Given the description of an element on the screen output the (x, y) to click on. 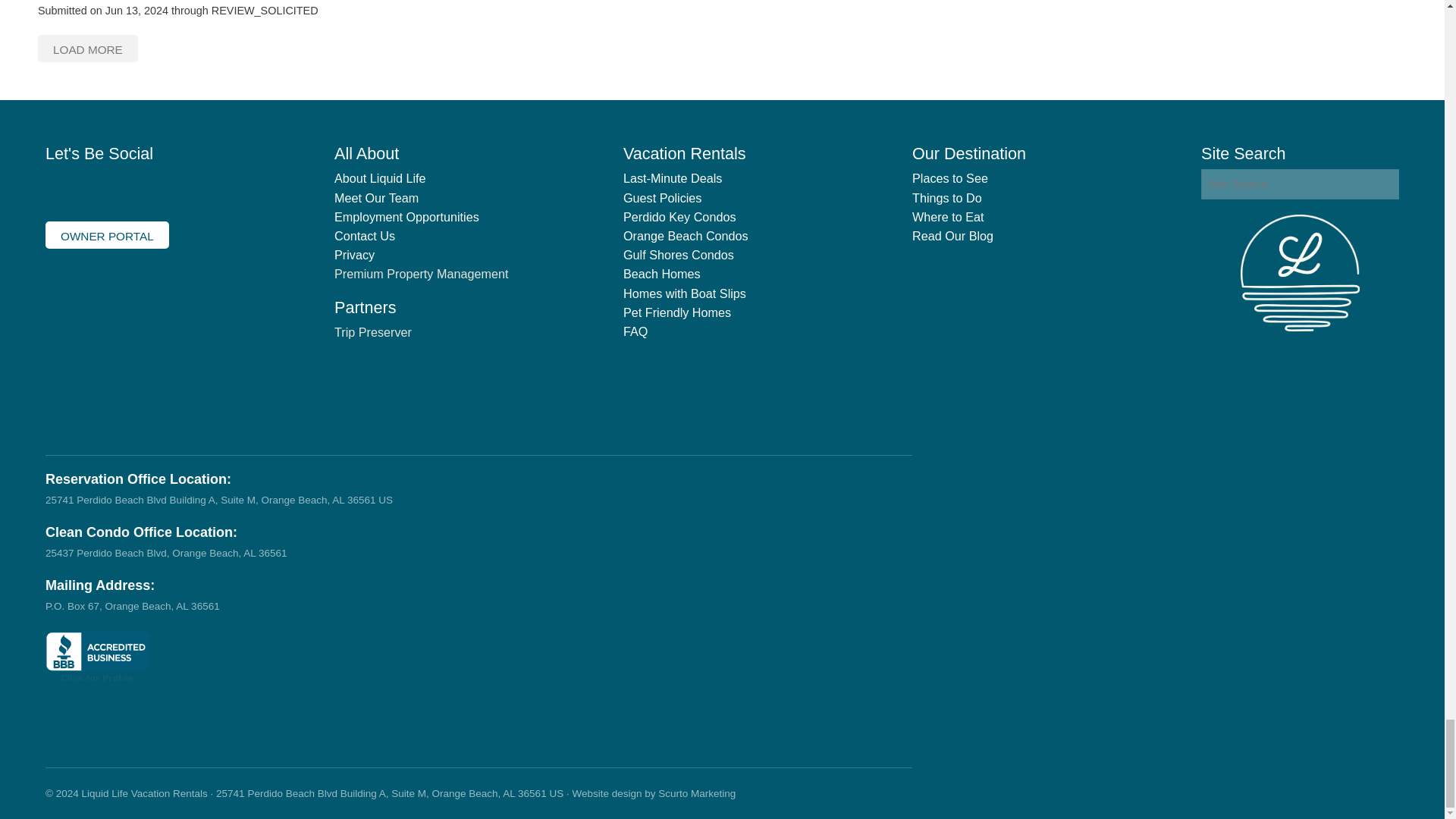
Load More (87, 48)
Load More (87, 48)
